Given the description of an element on the screen output the (x, y) to click on. 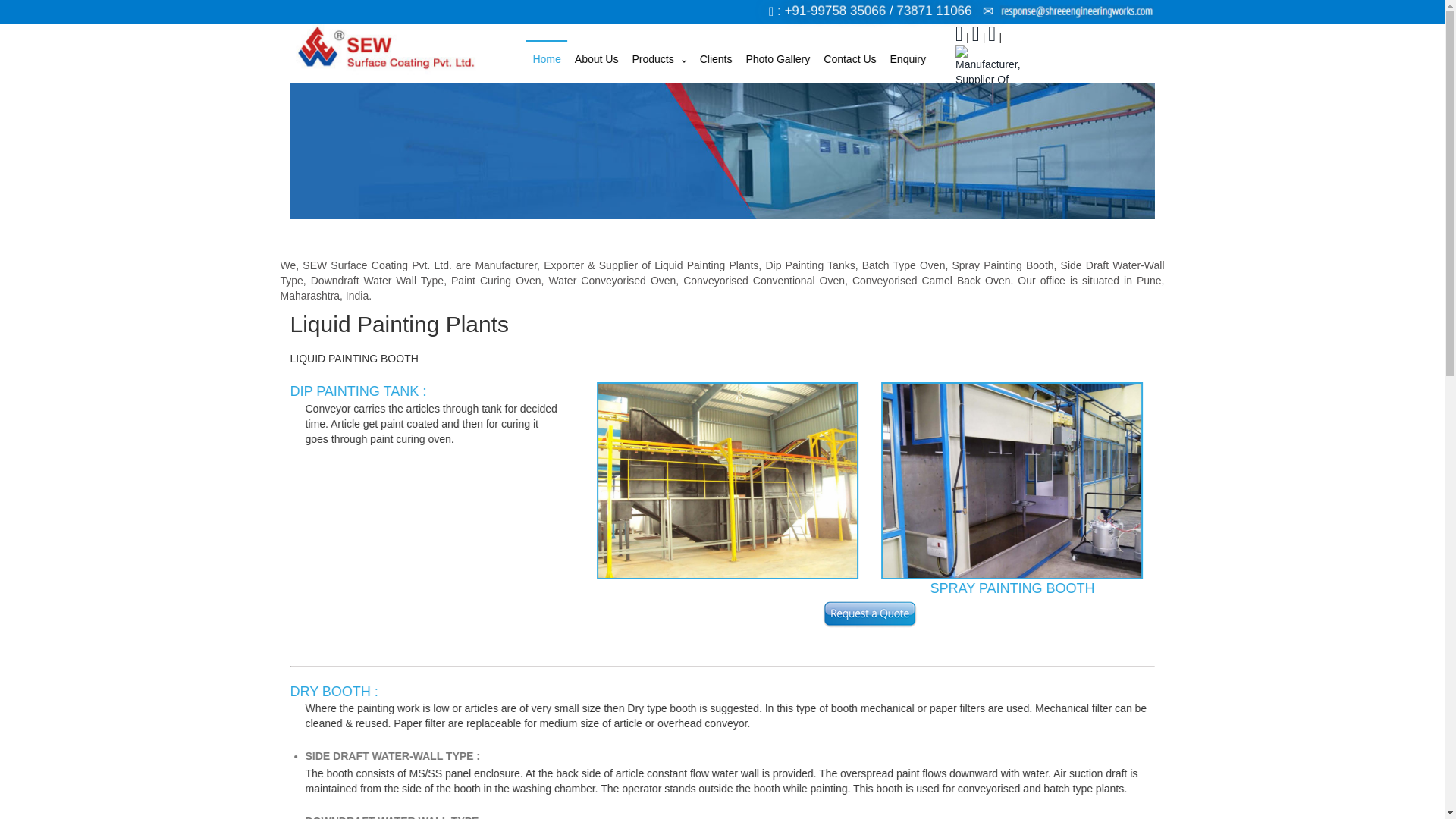
About Us (596, 58)
Products (658, 58)
Home (546, 58)
